Given the description of an element on the screen output the (x, y) to click on. 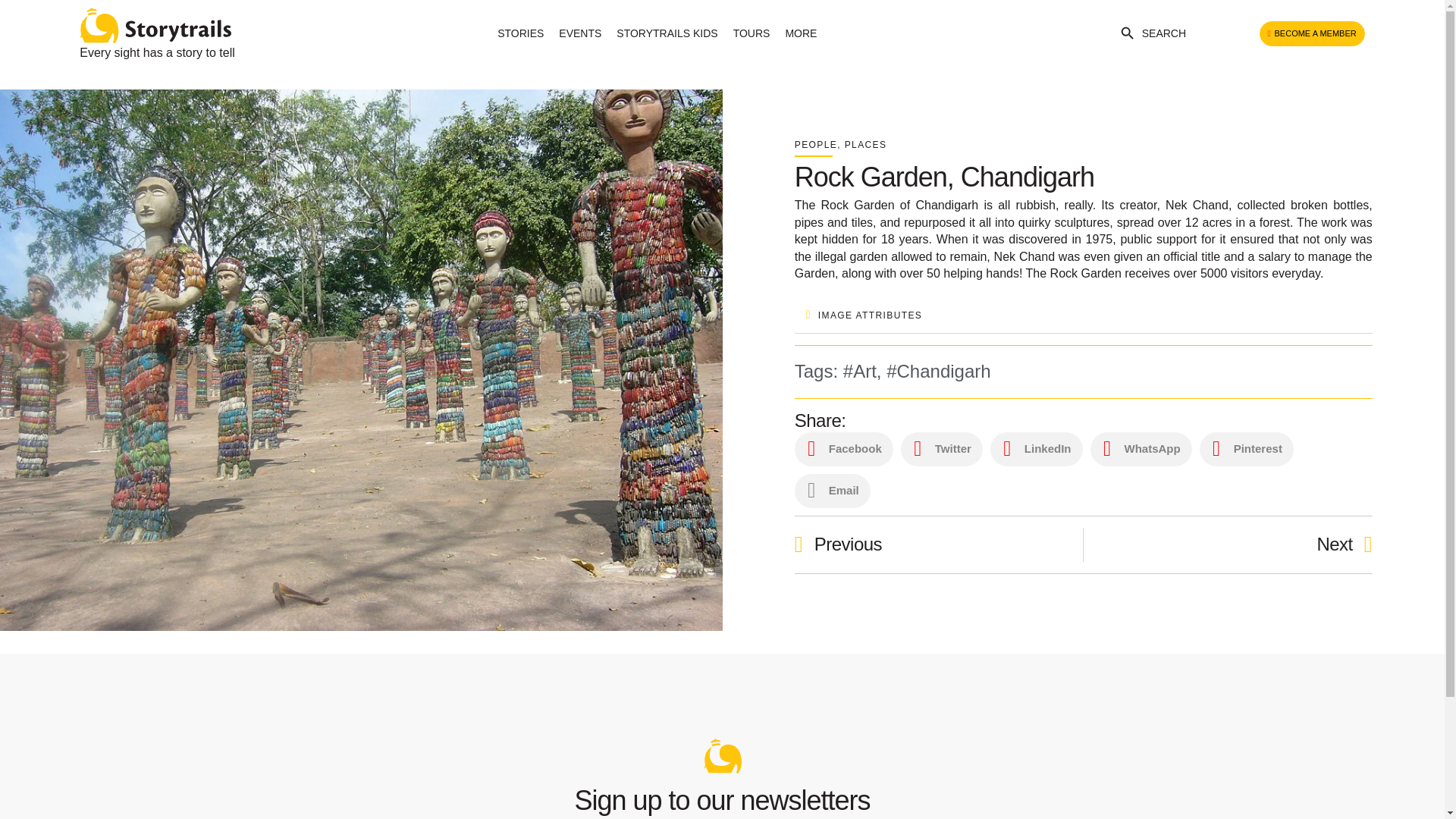
MORE (800, 32)
EVENTS (579, 32)
STORIES (520, 32)
Search Button (1127, 32)
STORYTRAILS KIDS (666, 32)
TOURS (751, 32)
BECOME A MEMBER (1311, 33)
PEOPLE (815, 144)
